Given the description of an element on the screen output the (x, y) to click on. 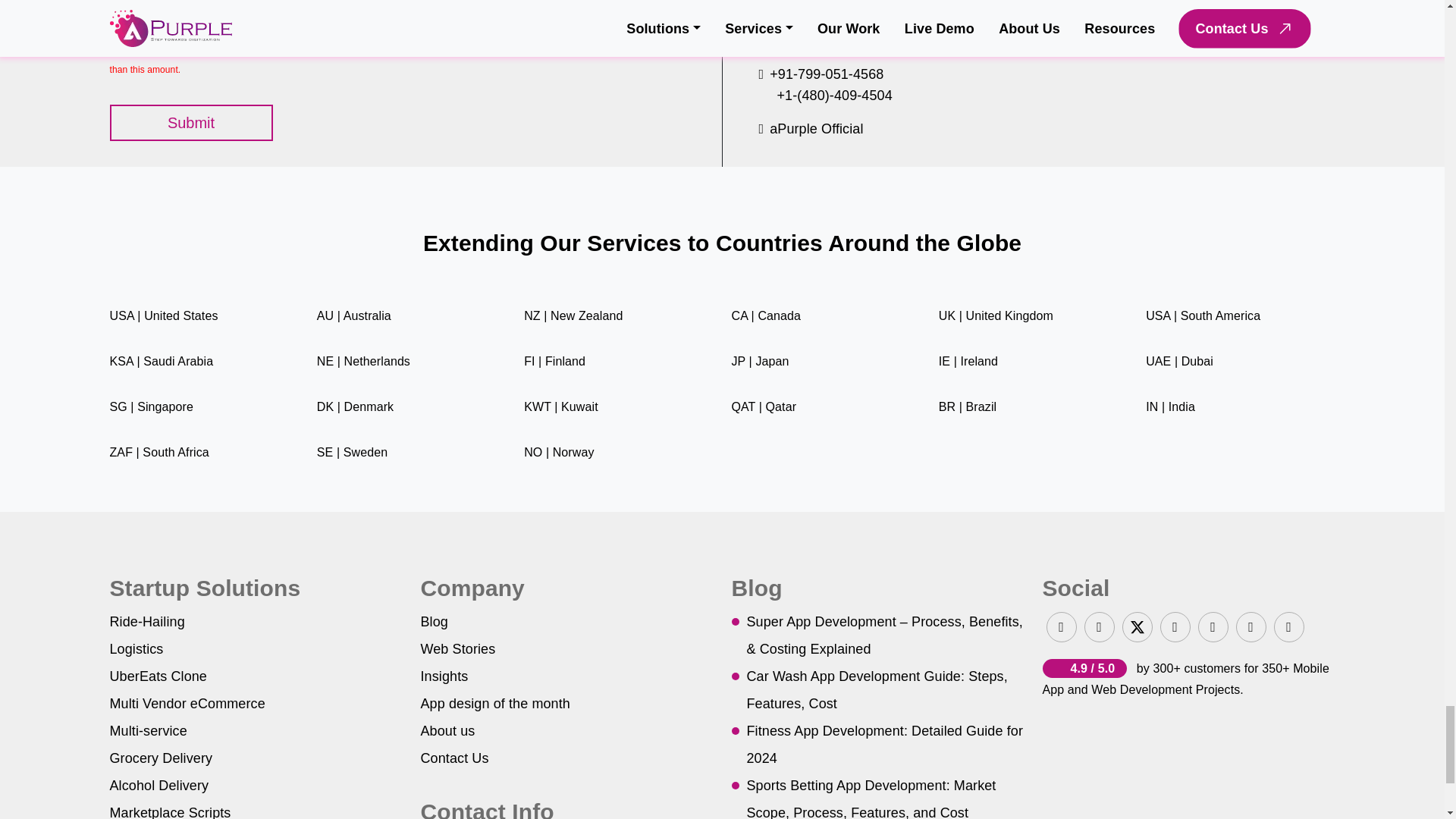
Submit (190, 122)
